Given the description of an element on the screen output the (x, y) to click on. 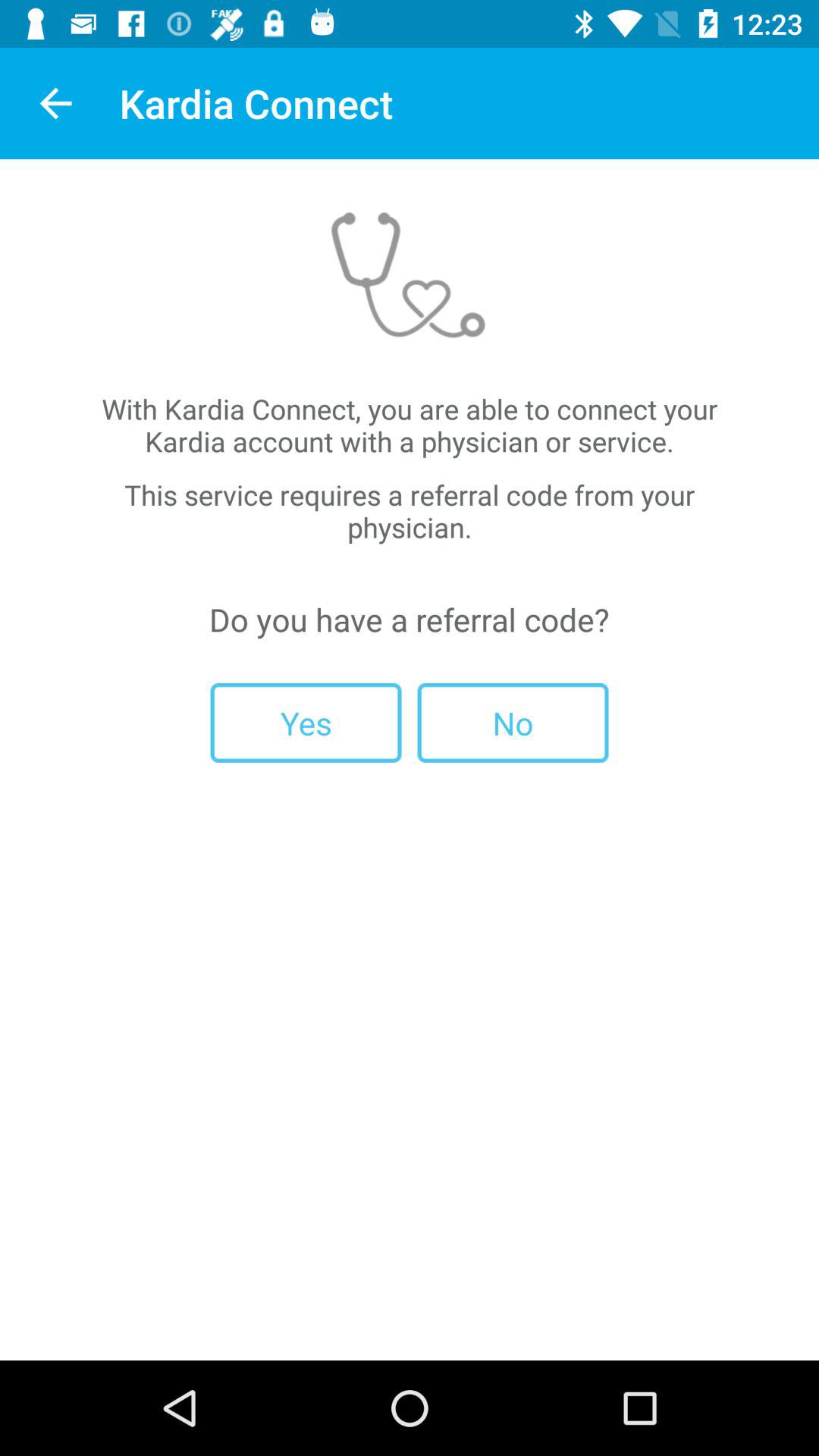
select the item to the right of yes (512, 722)
